Given the description of an element on the screen output the (x, y) to click on. 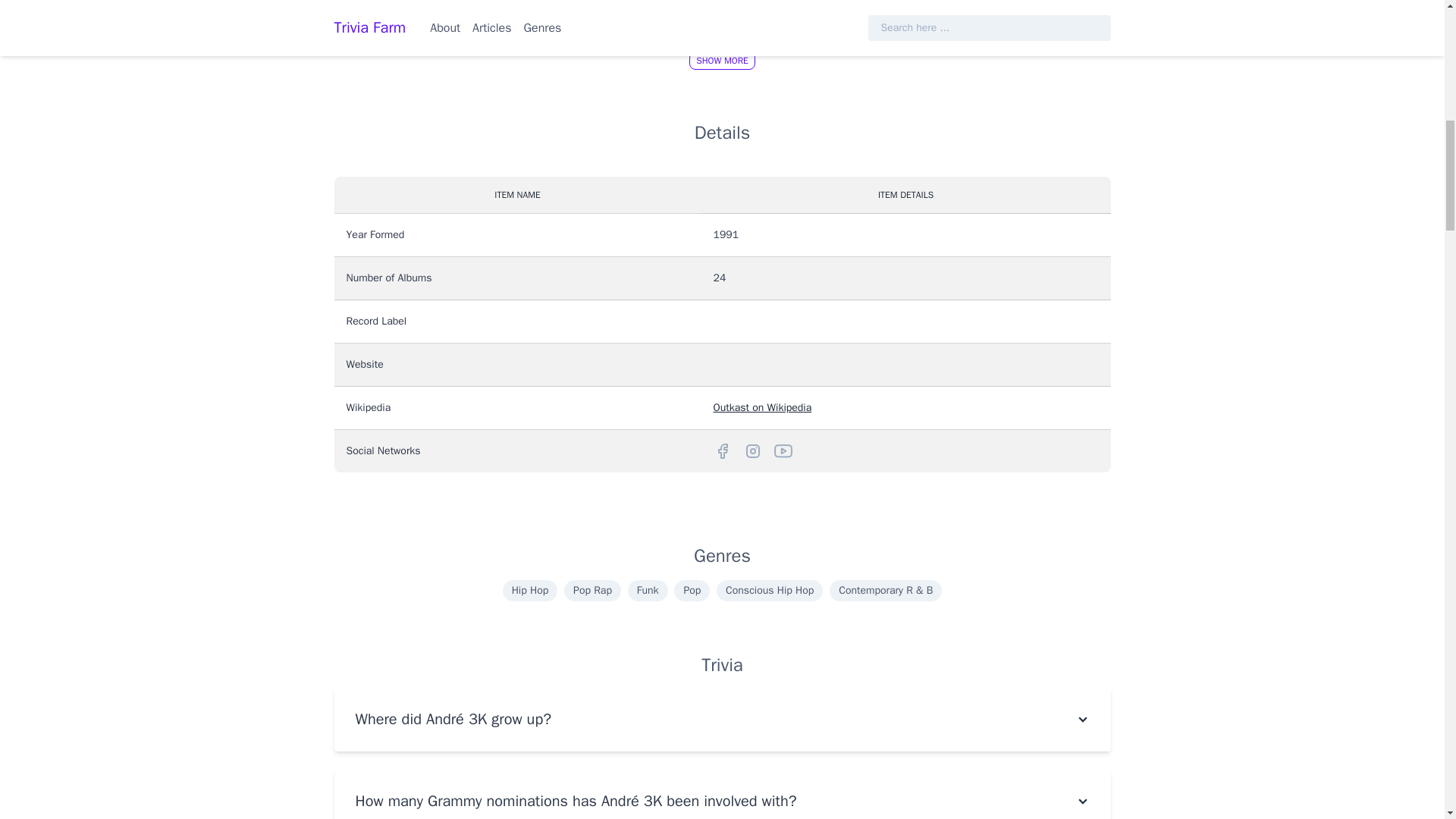
Outkast on Facebook (722, 451)
SHOW MORE (721, 60)
Outkast on Instagram (752, 451)
Pop (692, 590)
Outkast on Wikipedia (762, 407)
Hip Hop (529, 590)
Outkast on Youtube (783, 451)
Funk (647, 590)
Conscious Hip Hop (769, 590)
Pop Rap (592, 590)
